Given the description of an element on the screen output the (x, y) to click on. 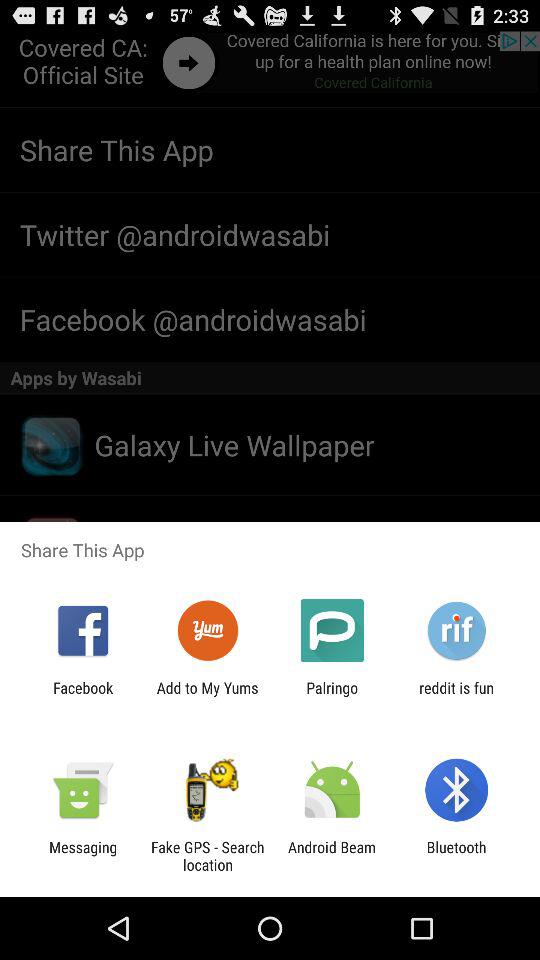
choose app to the left of reddit is fun item (332, 696)
